Given the description of an element on the screen output the (x, y) to click on. 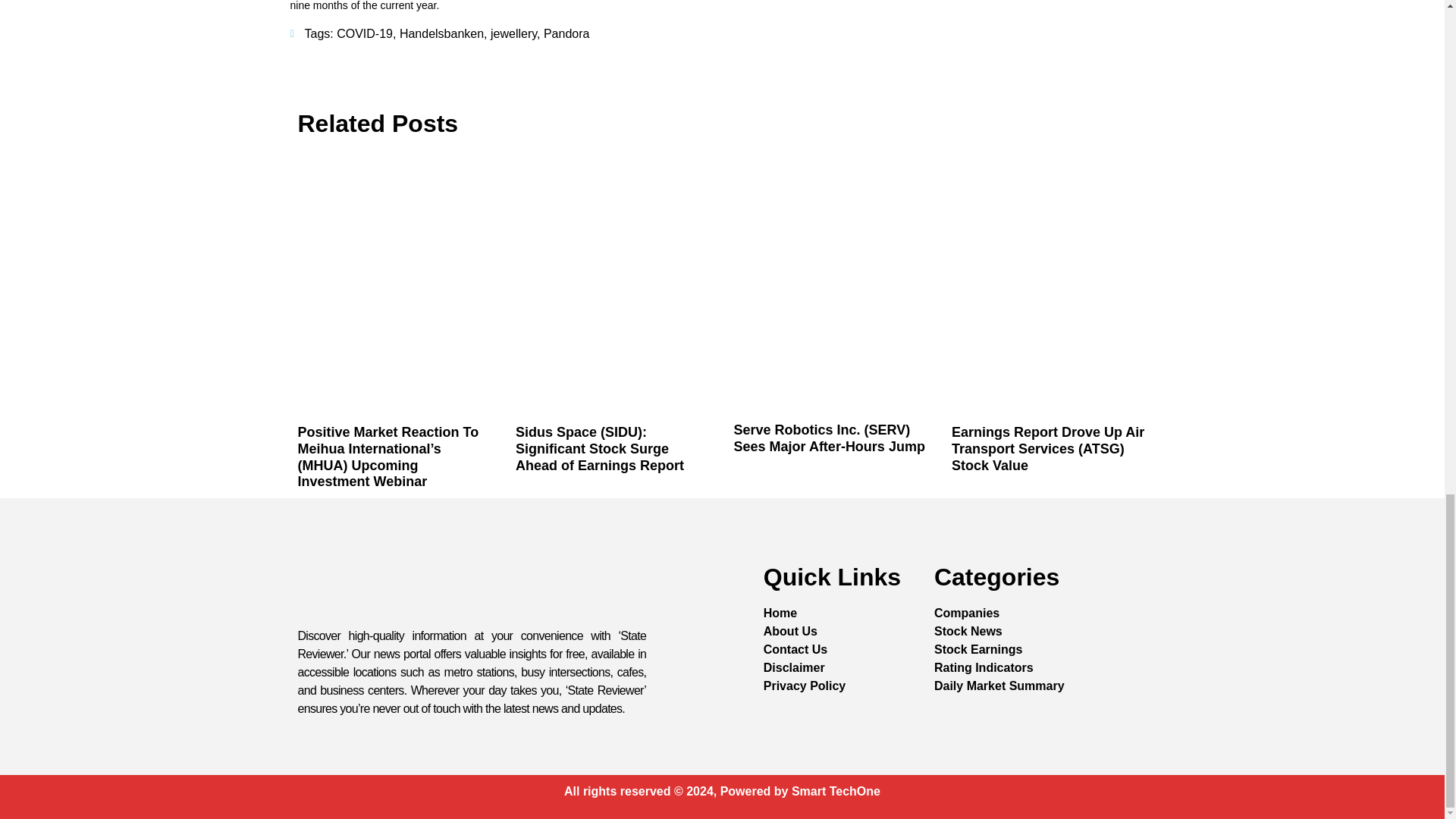
Privacy Policy (803, 686)
Stock News (968, 631)
COVID-19 (364, 33)
About Us (789, 631)
Handelsbanken (440, 33)
Disclaimer (793, 668)
jewellery (513, 33)
Contact Us (794, 649)
Pandora (566, 33)
Companies (966, 613)
